Given the description of an element on the screen output the (x, y) to click on. 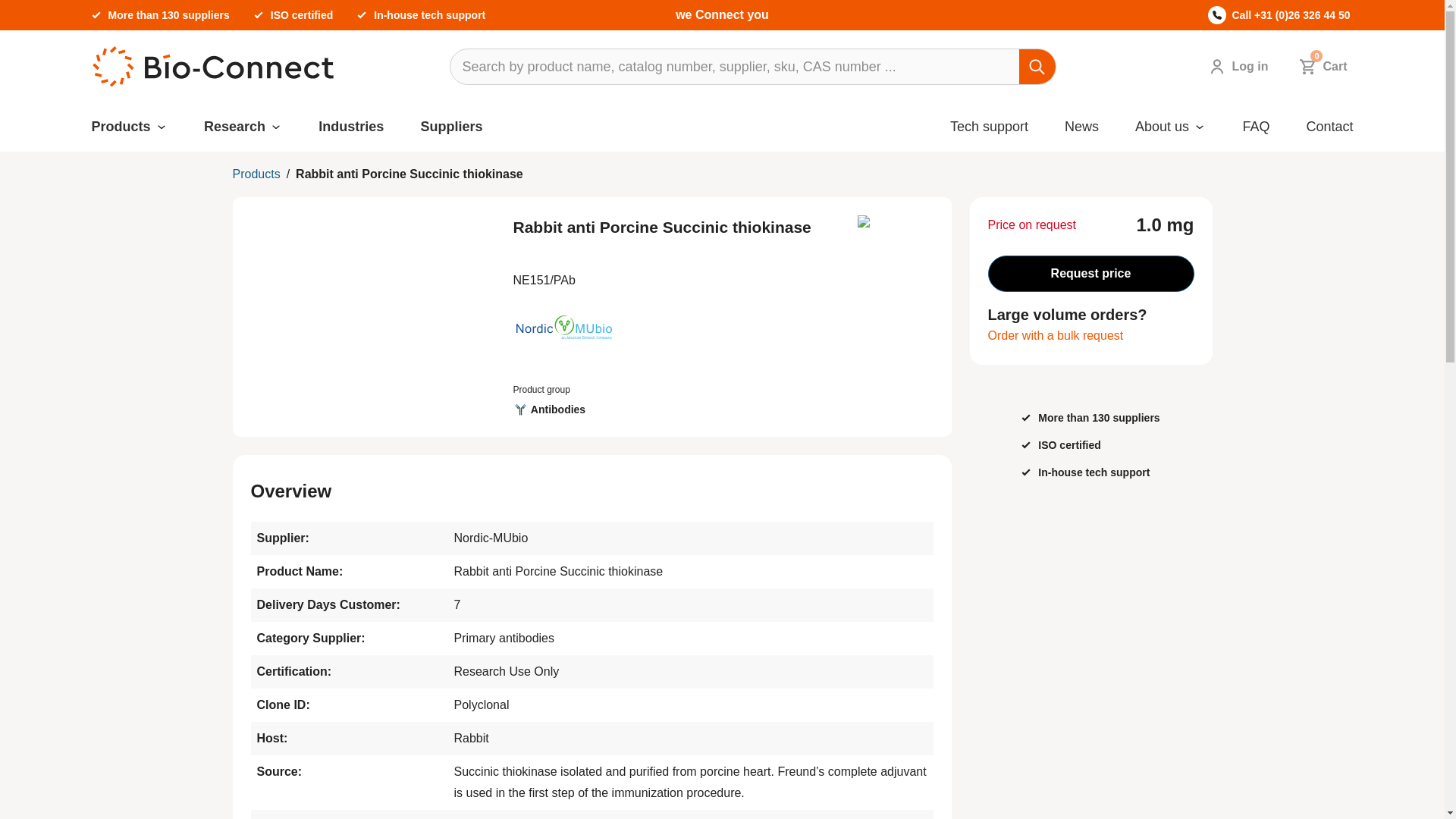
Bio-Connect (211, 66)
More than 130 suppliers (167, 14)
we Connect you (721, 14)
Tech support (988, 126)
Suppliers (450, 126)
Log in (1234, 66)
In-house tech support (1319, 66)
ISO certified (429, 14)
Research (301, 14)
Industries (233, 126)
Products (351, 126)
